Given the description of an element on the screen output the (x, y) to click on. 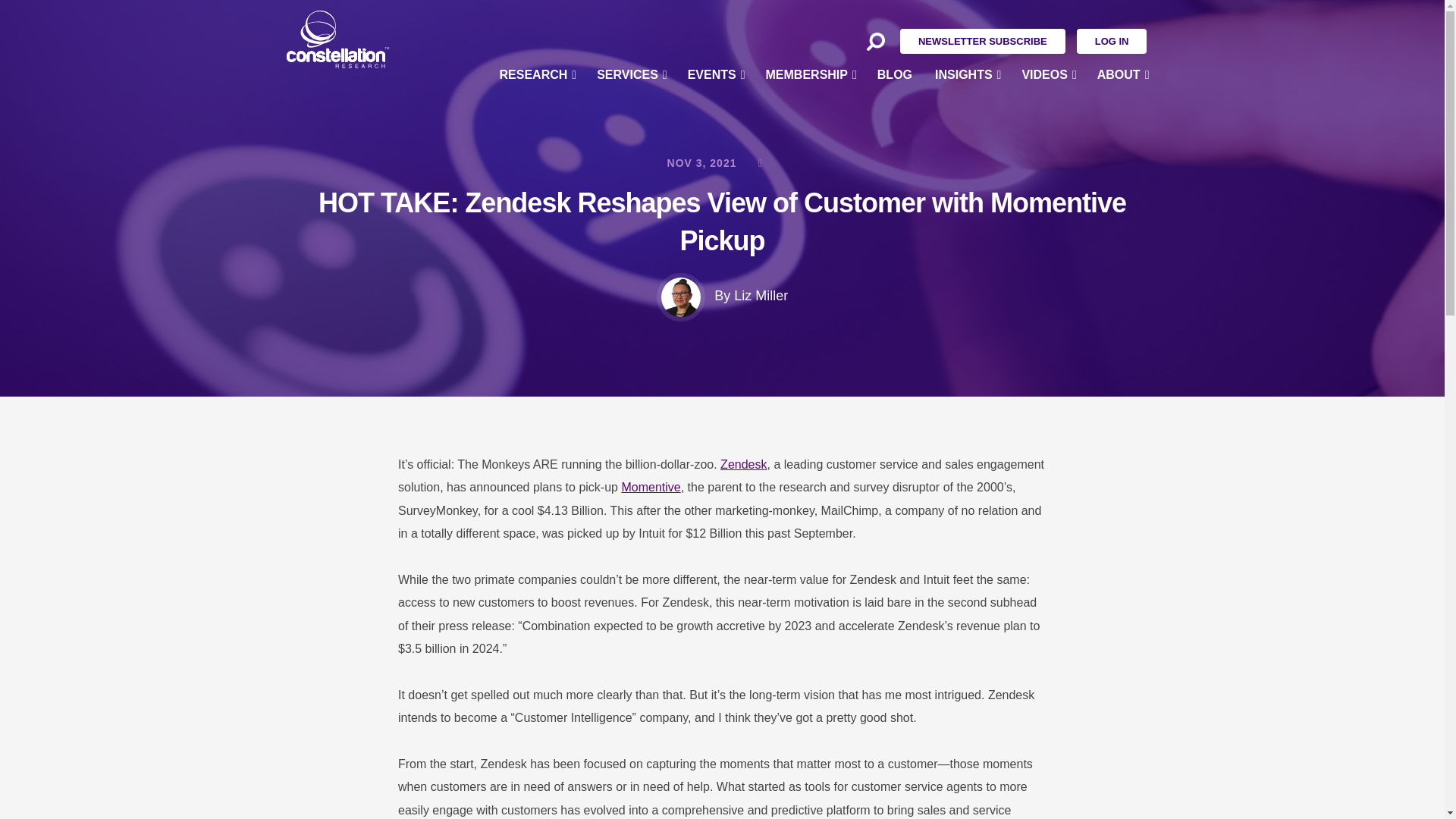
View user profile. (760, 295)
Research Agenda (536, 276)
Constellation Executive Network membership (810, 74)
The Innovation Summit for the Enterprise (715, 173)
RESEARCH (536, 74)
Research Library (536, 105)
Research Services (536, 344)
Actionable advice about developments in technology (966, 105)
Research Unlimited subscription (810, 139)
Research Policies (536, 310)
Business Research Themes (536, 139)
Constellation research library (536, 105)
Roles (536, 173)
Analysts (536, 207)
